Given the description of an element on the screen output the (x, y) to click on. 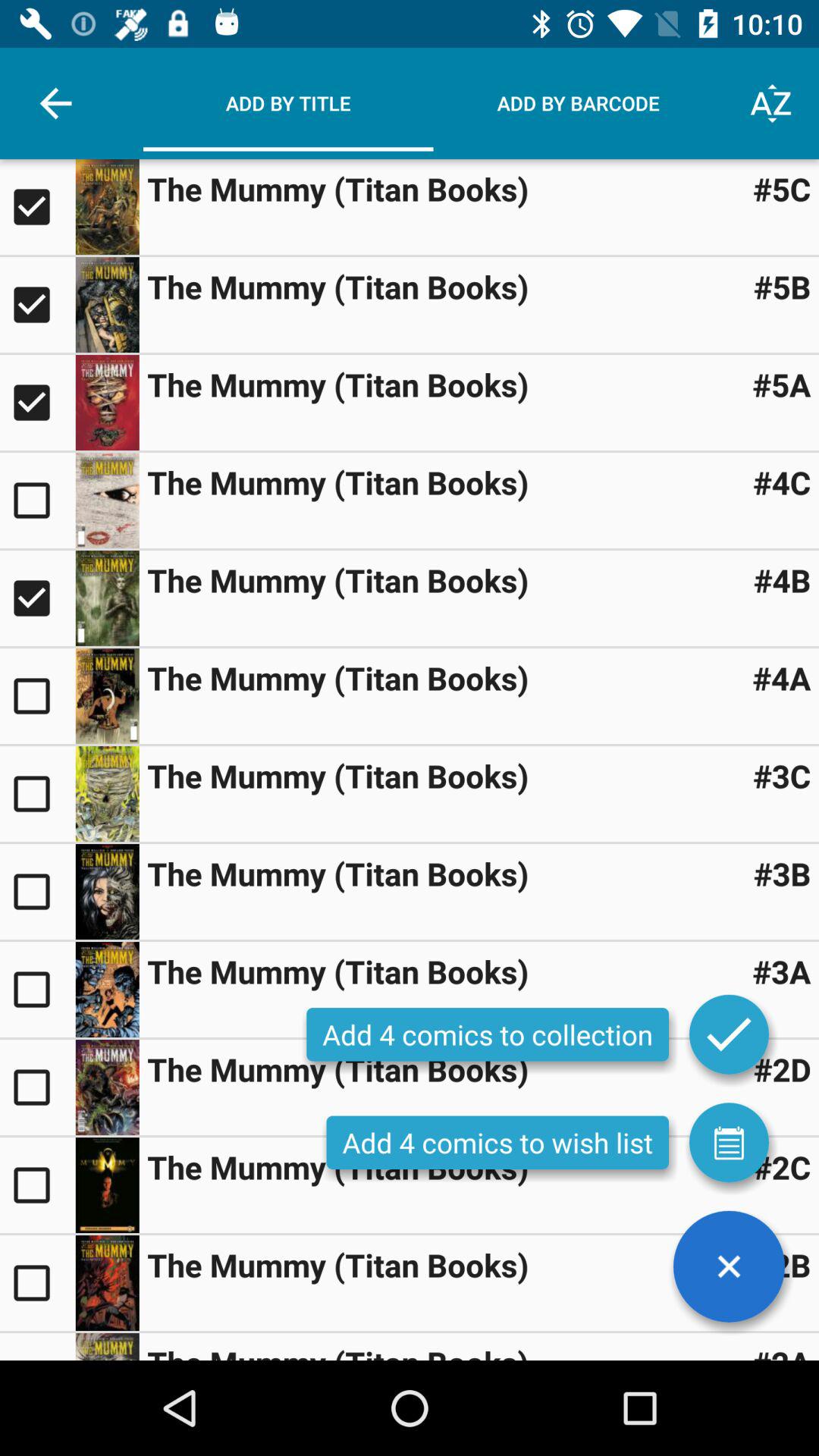
turn off item next to the mummy titan item (782, 579)
